Given the description of an element on the screen output the (x, y) to click on. 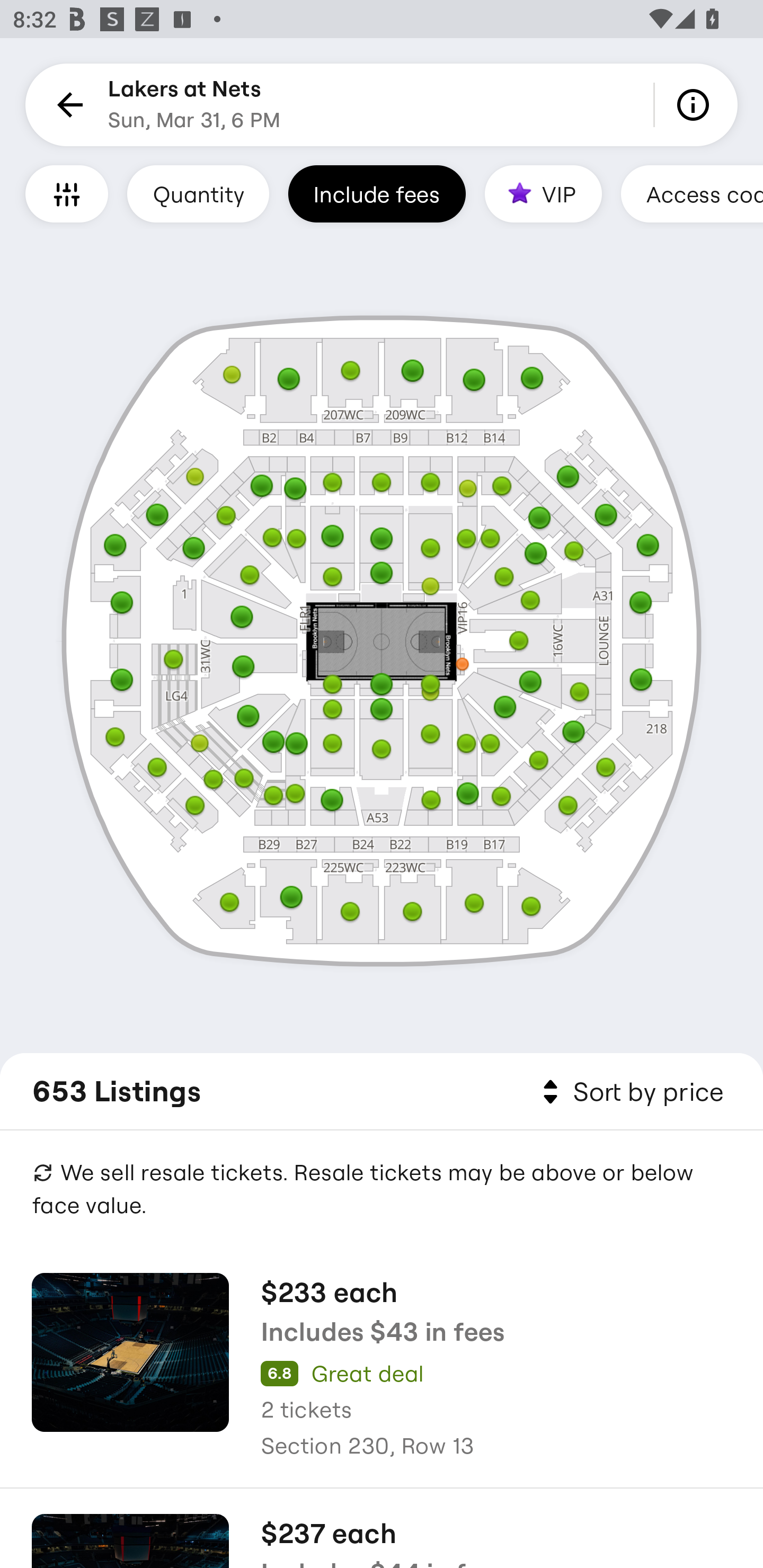
Back (66, 104)
Lakers at Nets Sun, Mar 31, 6 PM (194, 104)
Info (695, 104)
Filters and Accessible Seating (66, 193)
Quantity (198, 193)
Include fees (376, 193)
VIP (543, 193)
Access code (692, 193)
Sort by price (629, 1091)
